Given the description of an element on the screen output the (x, y) to click on. 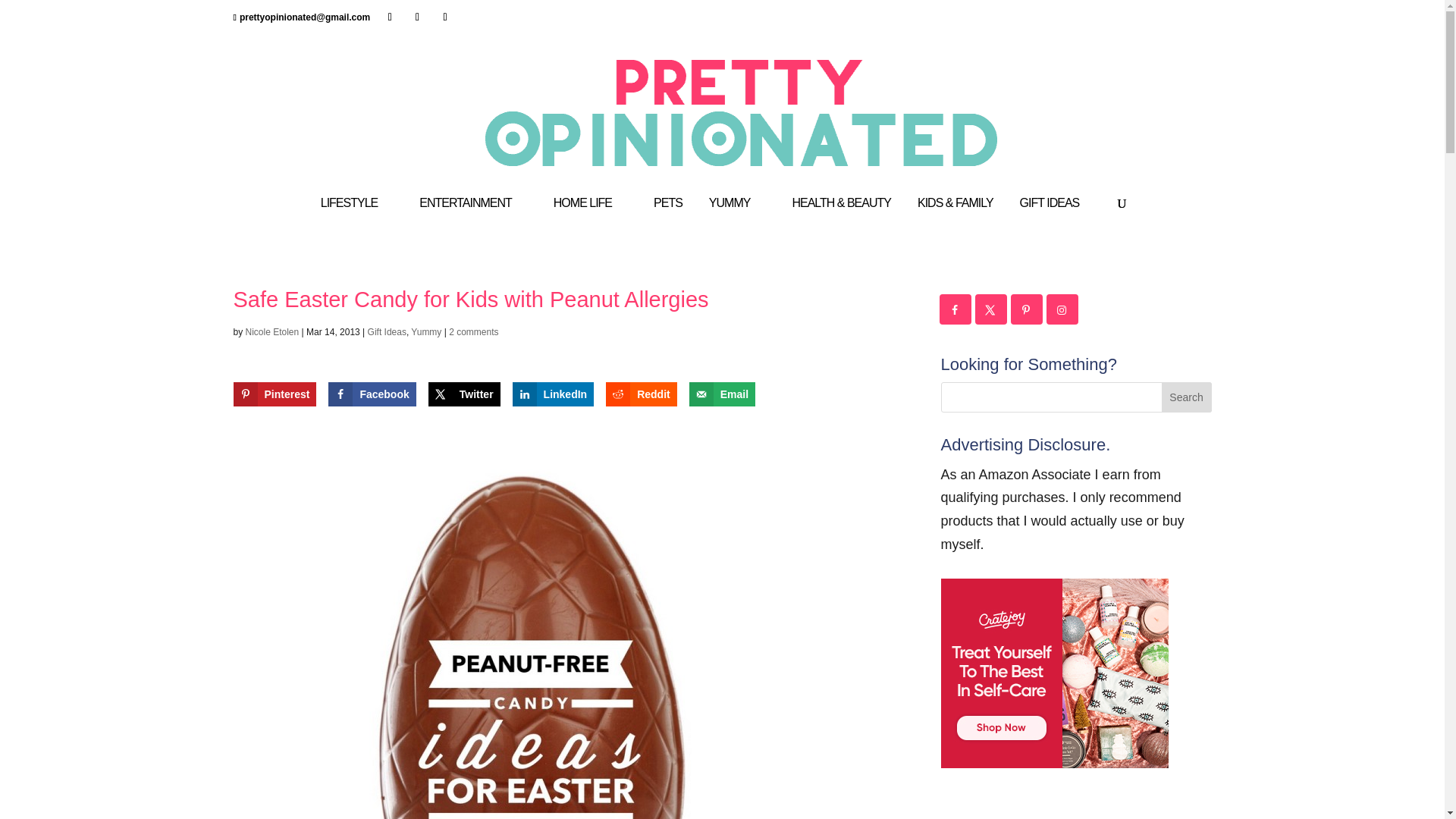
GIFT IDEAS (1057, 217)
HOME LIFE (590, 217)
Save to Pinterest (274, 394)
LIFESTYLE (356, 217)
YUMMY (737, 217)
Share on Reddit (641, 394)
Search (1186, 397)
Share on Facebook (371, 394)
Share on LinkedIn (553, 394)
ENTERTAINMENT (473, 217)
Posts by Nicole Etolen (272, 331)
Send over email (721, 394)
Share on X (464, 394)
